Given the description of an element on the screen output the (x, y) to click on. 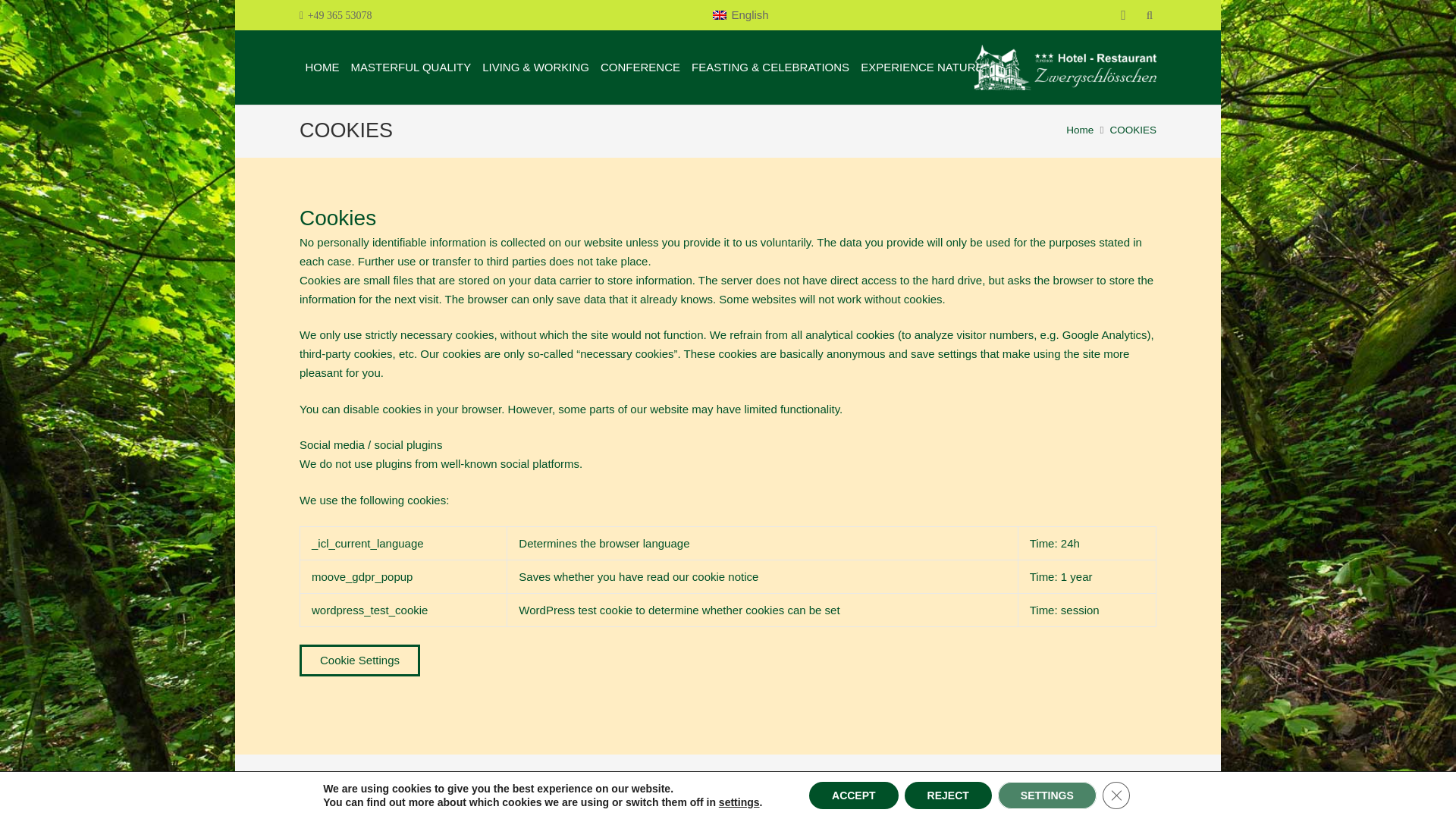
HOME (322, 67)
English (740, 15)
English (740, 15)
MASTERFUL QUALITY (411, 67)
Facebook (1123, 14)
CONFERENCE (639, 67)
